Given the description of an element on the screen output the (x, y) to click on. 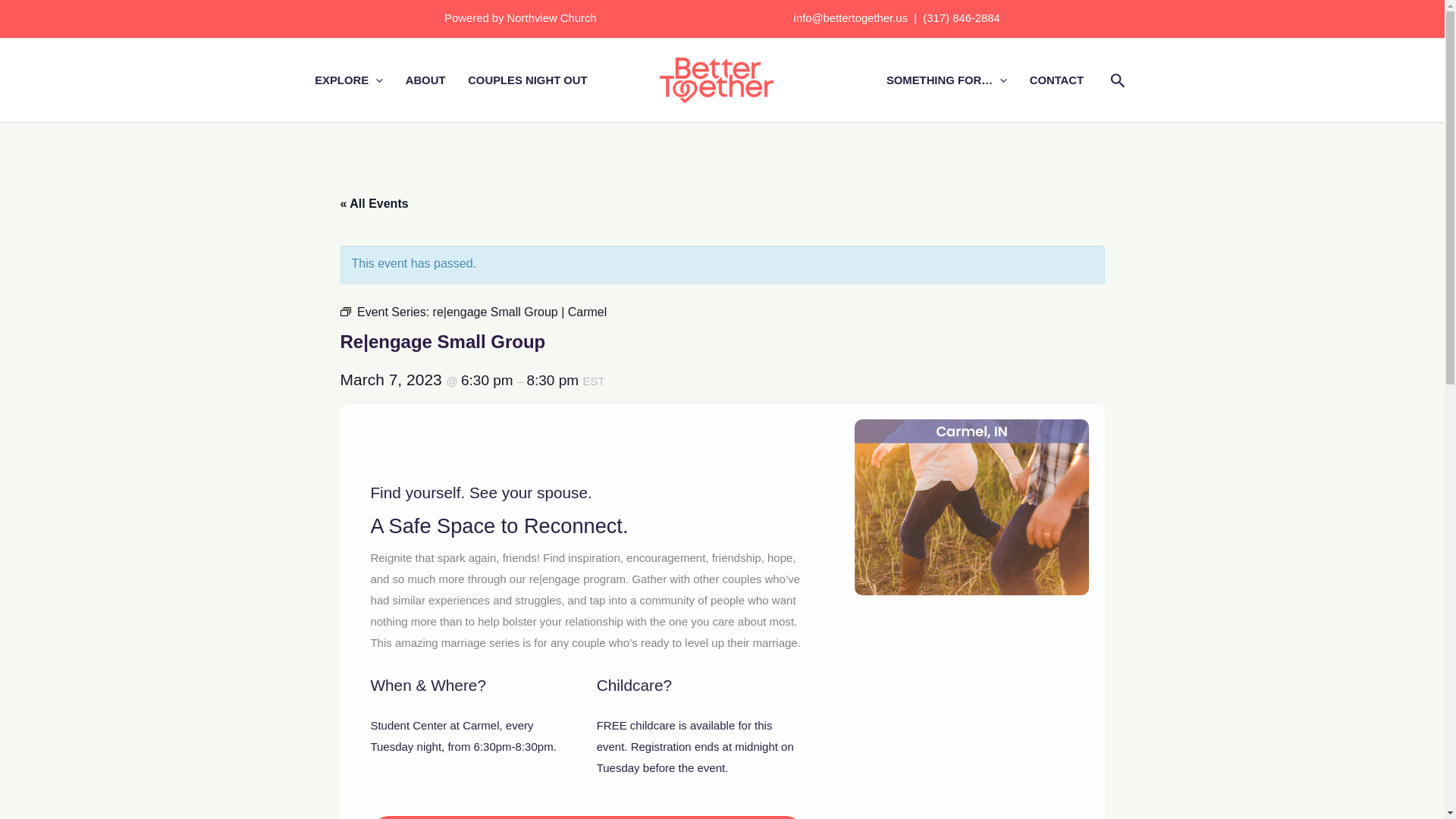
COUPLES NIGHT OUT (527, 80)
Event Series (344, 311)
CONTACT (1055, 80)
EXPLORE (348, 80)
